Given the description of an element on the screen output the (x, y) to click on. 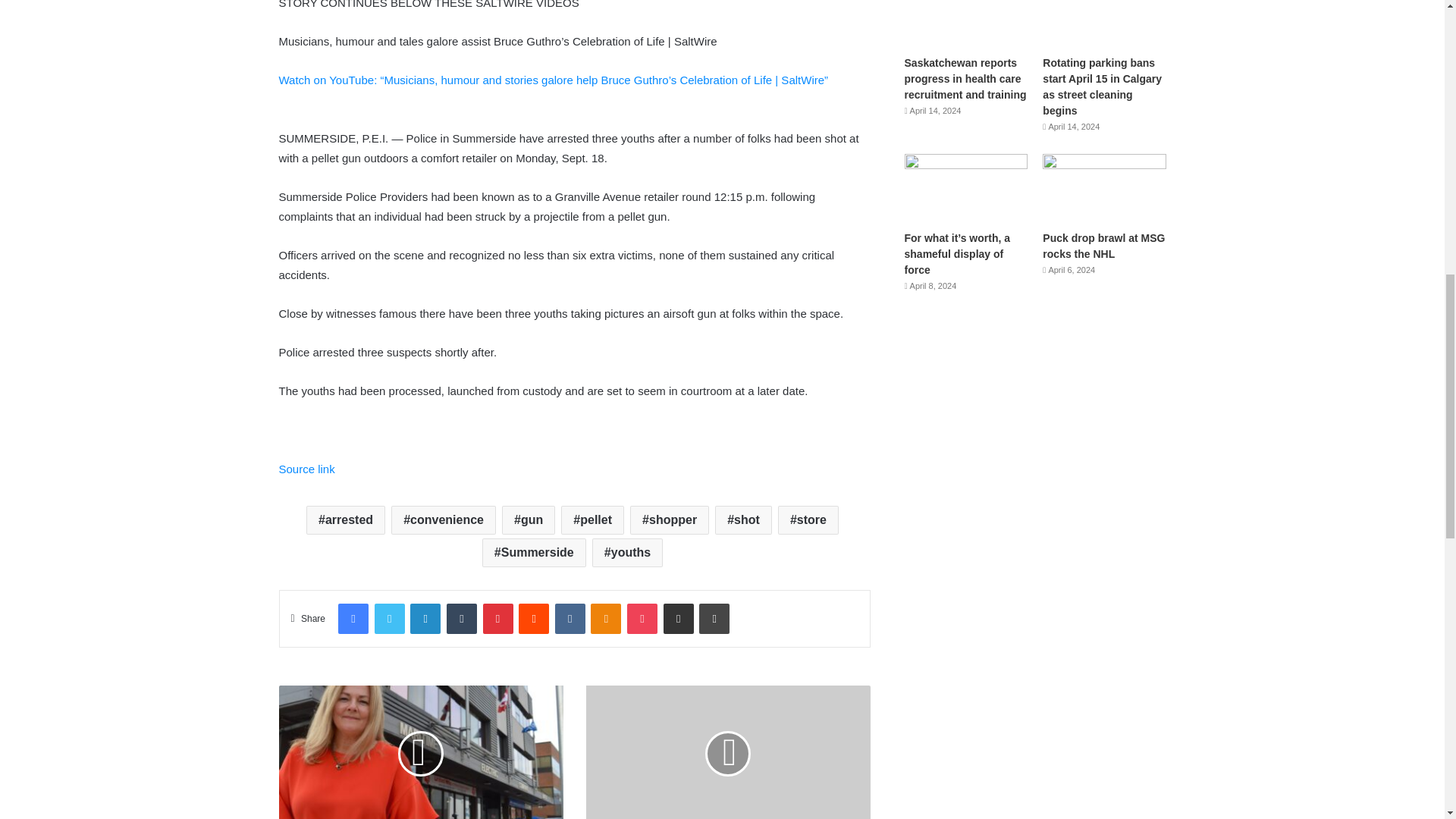
convenience (443, 520)
gun (528, 520)
arrested (345, 520)
Source link (306, 468)
